Given the description of an element on the screen output the (x, y) to click on. 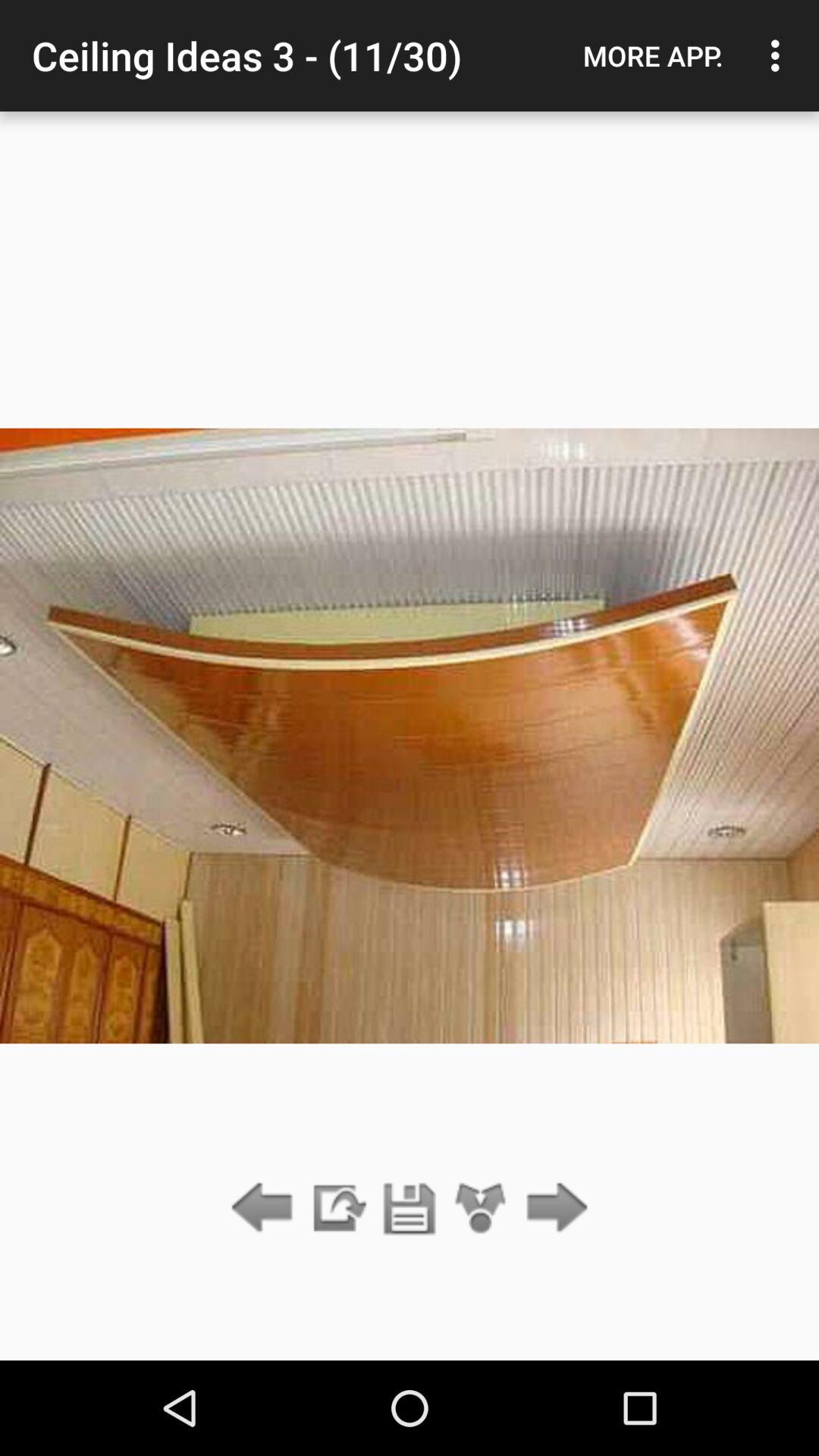
previous (266, 1209)
